Given the description of an element on the screen output the (x, y) to click on. 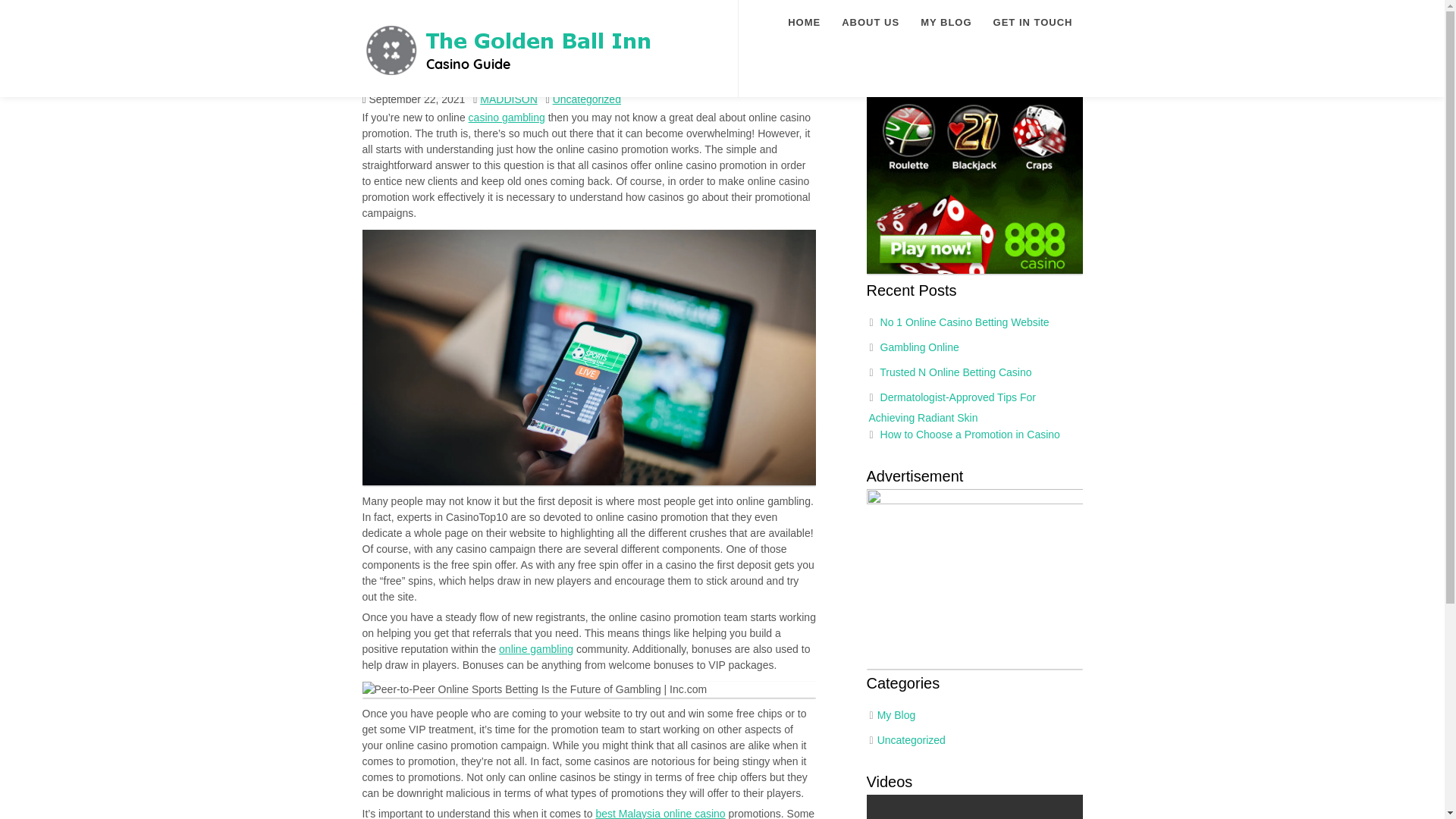
How to Choose a Promotion in Casino (969, 433)
best Malaysia online casino (660, 813)
casino gambling (506, 117)
MADDISON (508, 99)
Uncategorized (587, 99)
Dermatologist-Approved Tips For Achieving Radiant Skin (952, 407)
online gambling (536, 648)
Gambling Online (919, 346)
My Blog (896, 715)
Uncategorized (910, 739)
MY BLOG (945, 22)
Posts by MADDISON (508, 99)
ABOUT US (870, 22)
No 1 Online Casino Betting Website (964, 321)
HOME (804, 22)
